Given the description of an element on the screen output the (x, y) to click on. 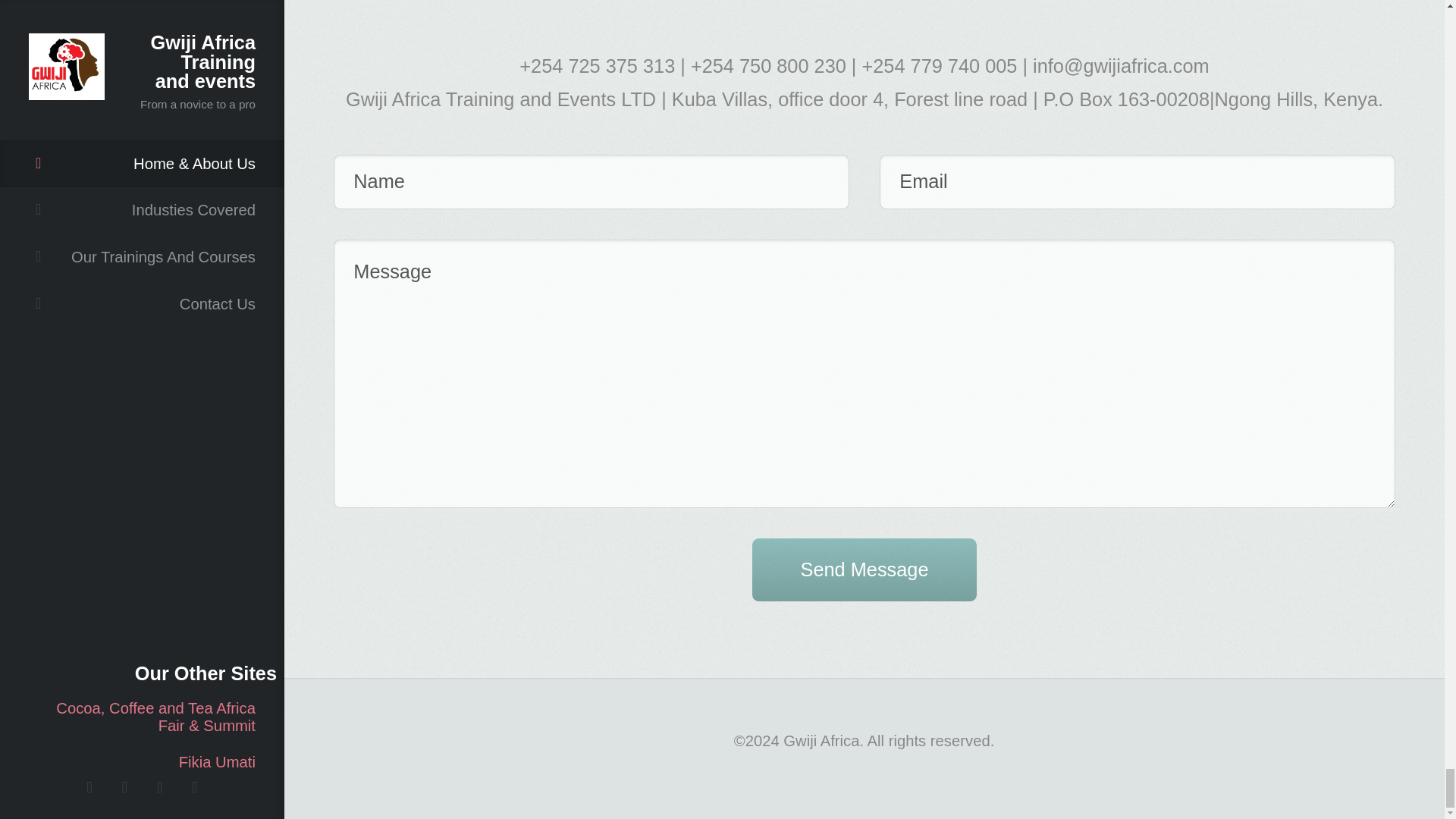
Send Message (864, 569)
